Given the description of an element on the screen output the (x, y) to click on. 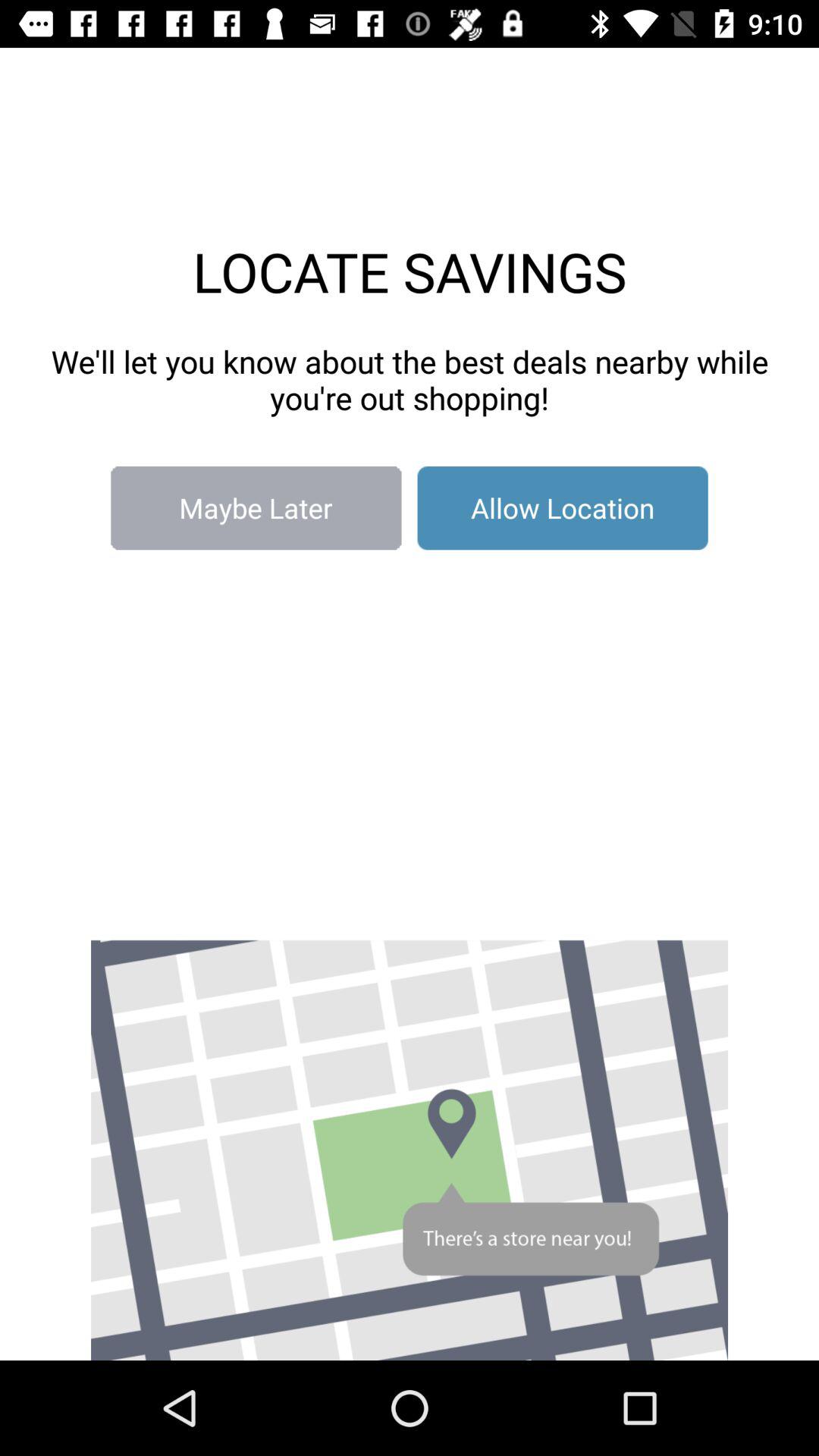
launch the icon below we ll let app (562, 507)
